Given the description of an element on the screen output the (x, y) to click on. 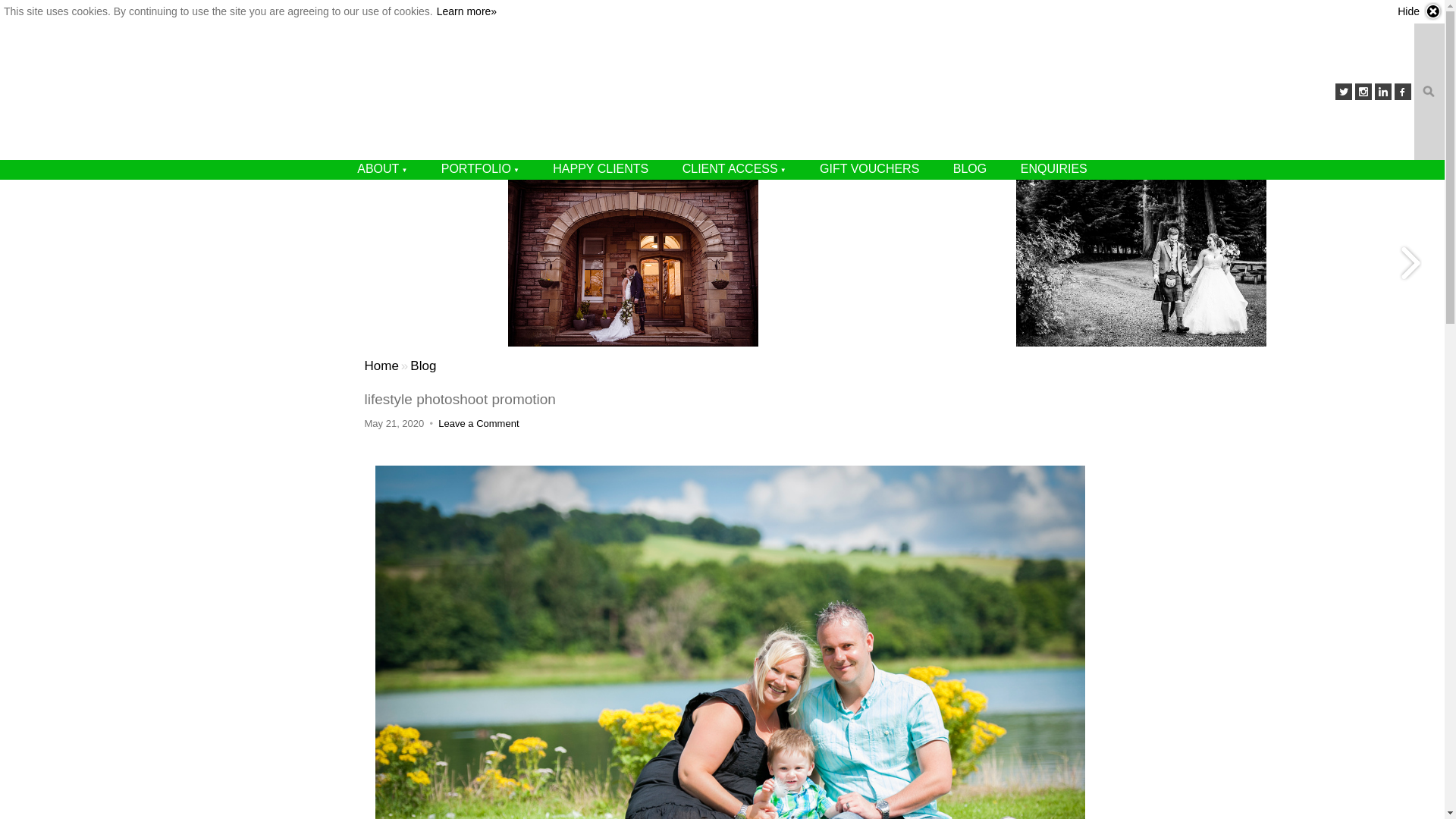
Casey Stewart Photography (380, 365)
ENQUIRIES (1054, 168)
GIFT VOUCHERS (869, 168)
BLOG (969, 168)
Casey Stewart Photography (721, 91)
Hide (1419, 11)
HAPPY CLIENTS (600, 168)
